Given the description of an element on the screen output the (x, y) to click on. 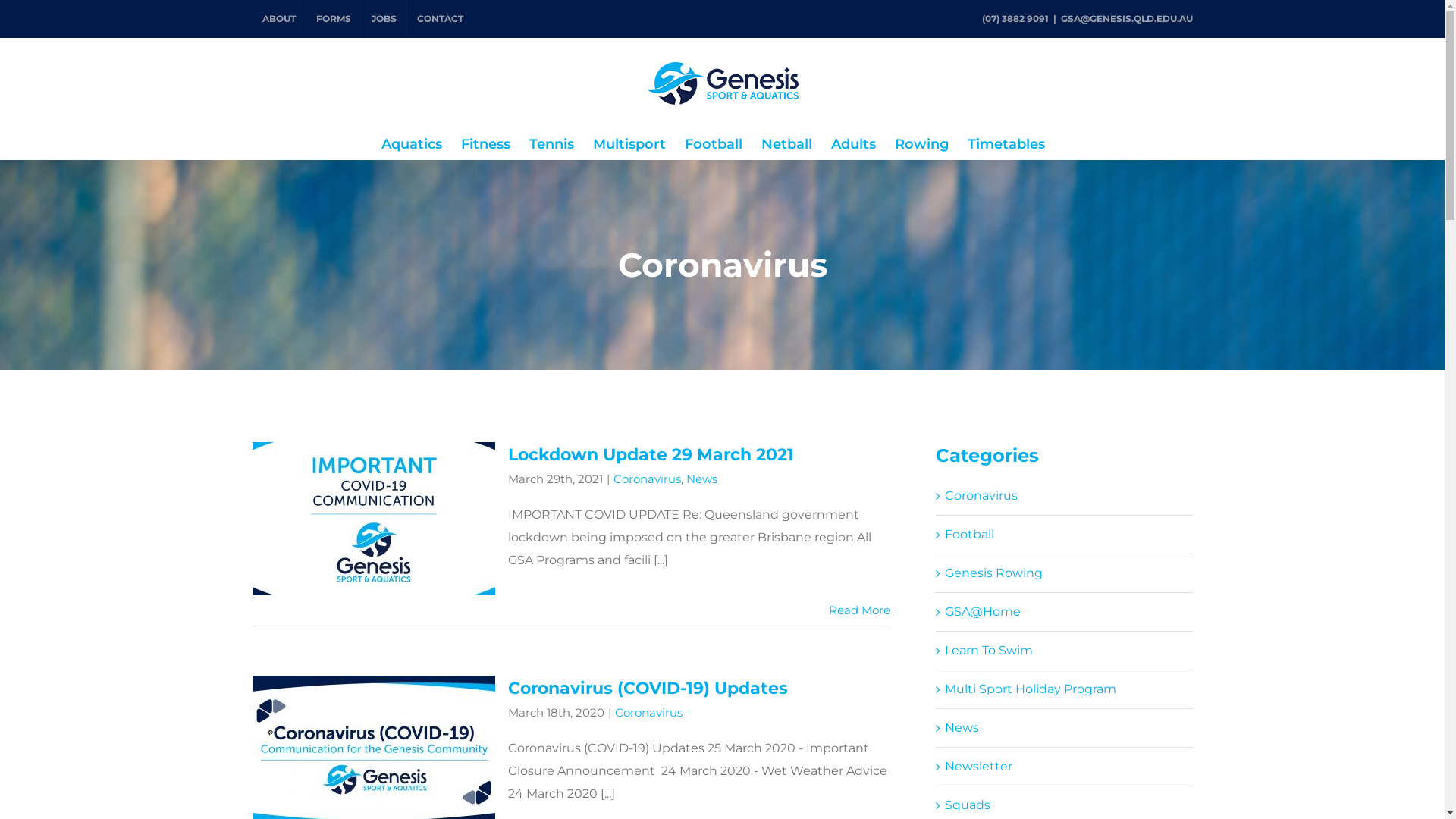
Aquatics Element type: text (410, 143)
Multi Sport Holiday Program Element type: text (1064, 688)
FORMS Element type: text (333, 18)
Football Element type: text (1064, 534)
Football Element type: text (712, 143)
News Element type: text (1064, 727)
Coronavirus Element type: text (647, 712)
Adults Element type: text (853, 143)
Squads Element type: text (1064, 804)
Timetables Element type: text (1005, 143)
Multisport Element type: text (629, 143)
GSA@GENESIS.QLD.EDU.AU Element type: text (1126, 18)
CONTACT Element type: text (439, 18)
JOBS Element type: text (382, 18)
Learn To Swim Element type: text (1064, 650)
Fitness Element type: text (485, 143)
Tennis Element type: text (551, 143)
Genesis Rowing Element type: text (1064, 572)
Netball Element type: text (786, 143)
Coronavirus (COVID-19) Updates Element type: text (647, 687)
Newsletter Element type: text (1064, 766)
Rowing Element type: text (921, 143)
Coronavirus Element type: text (646, 478)
News Element type: text (700, 478)
Read More Element type: text (859, 609)
GSA@Home Element type: text (1064, 611)
Coronavirus Element type: text (1064, 495)
Lockdown Update 29 March 2021 Element type: text (650, 454)
ABOUT Element type: text (277, 18)
